Given the description of an element on the screen output the (x, y) to click on. 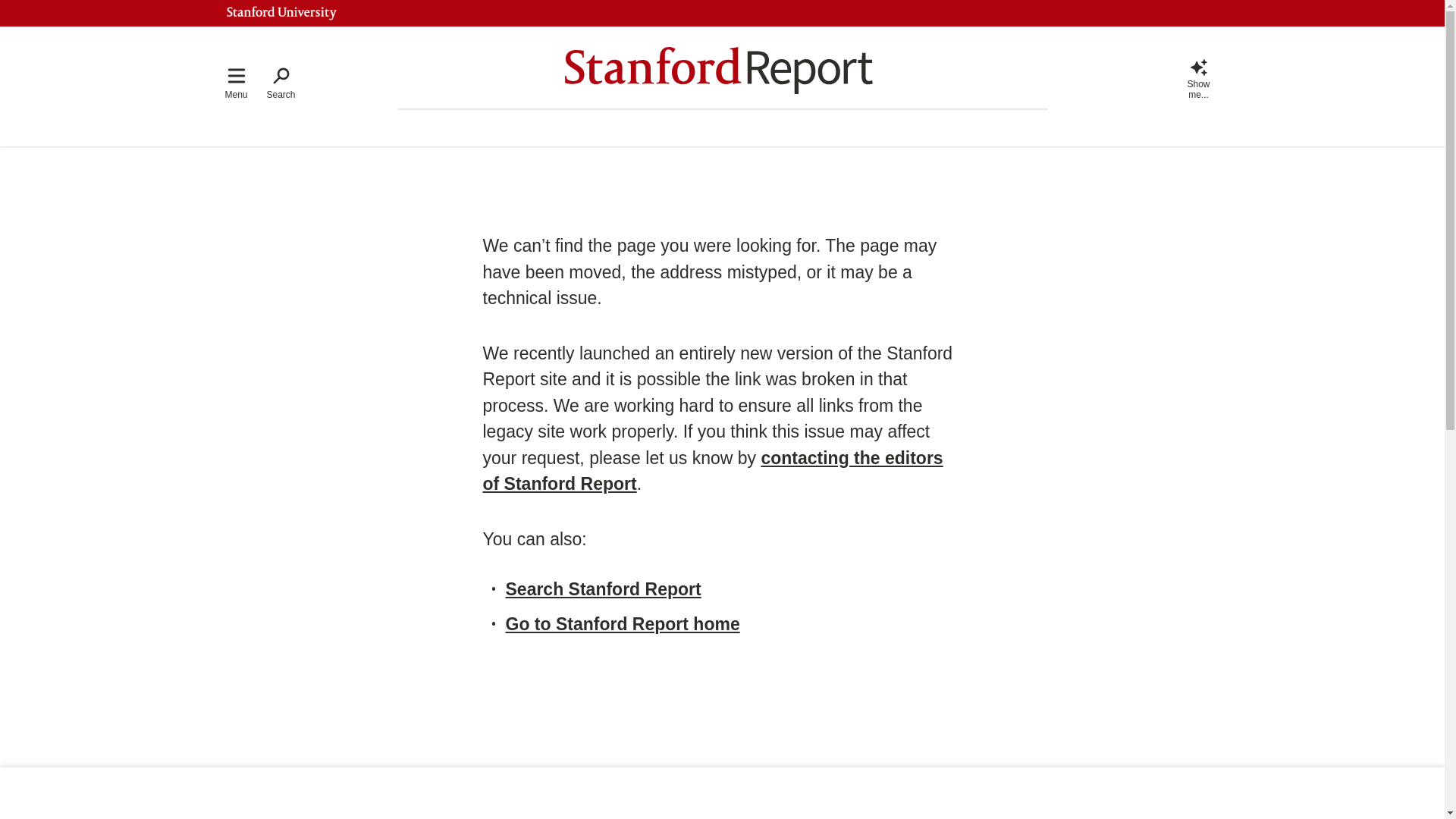
Show me... (1198, 77)
Search Stanford Report (602, 588)
contacting the editors of Stanford Report (711, 470)
